Given the description of an element on the screen output the (x, y) to click on. 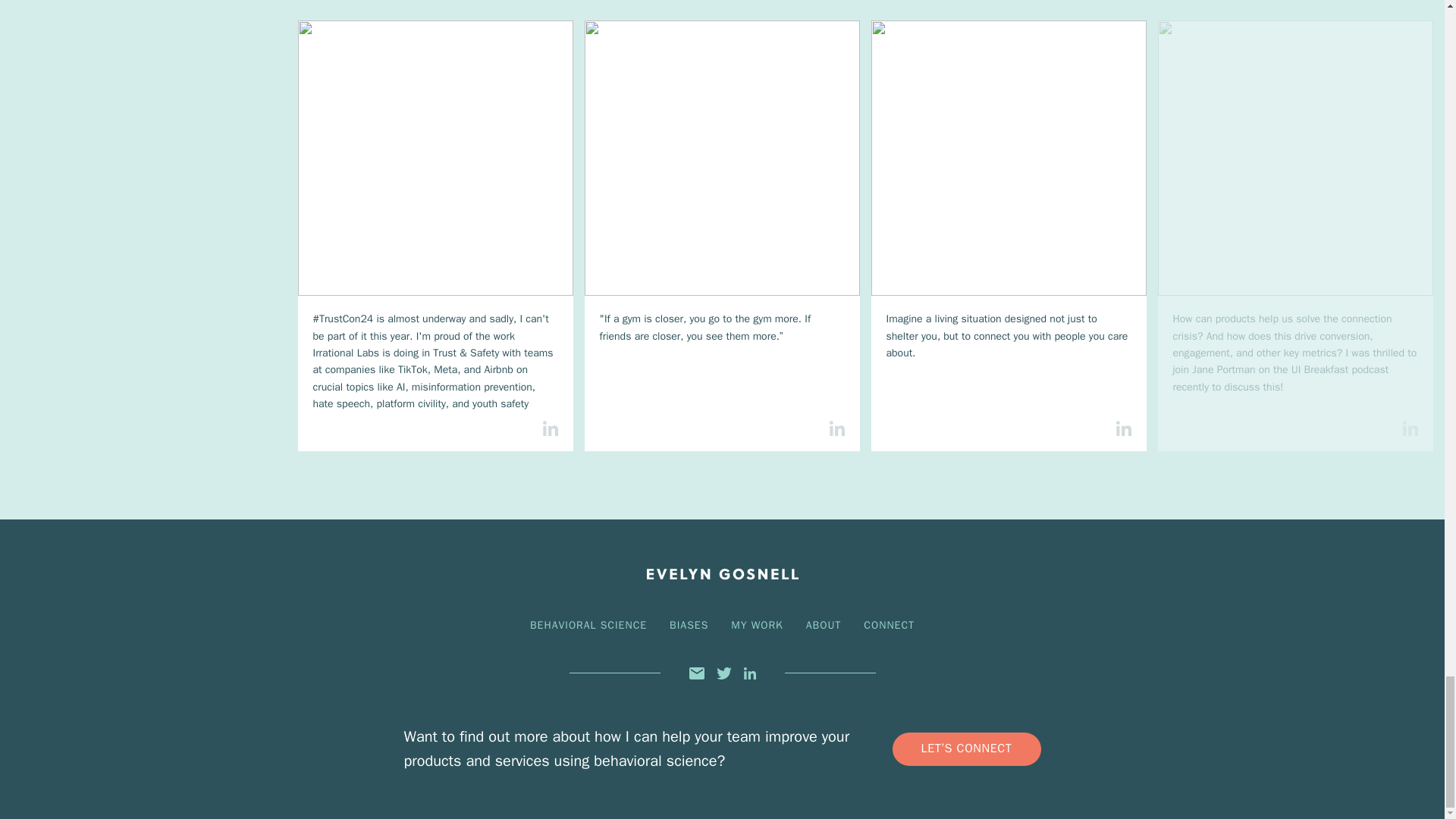
Linkedin (748, 673)
Email (695, 673)
Twitter (723, 673)
BEHAVIORAL SCIENCE (587, 625)
